Given the description of an element on the screen output the (x, y) to click on. 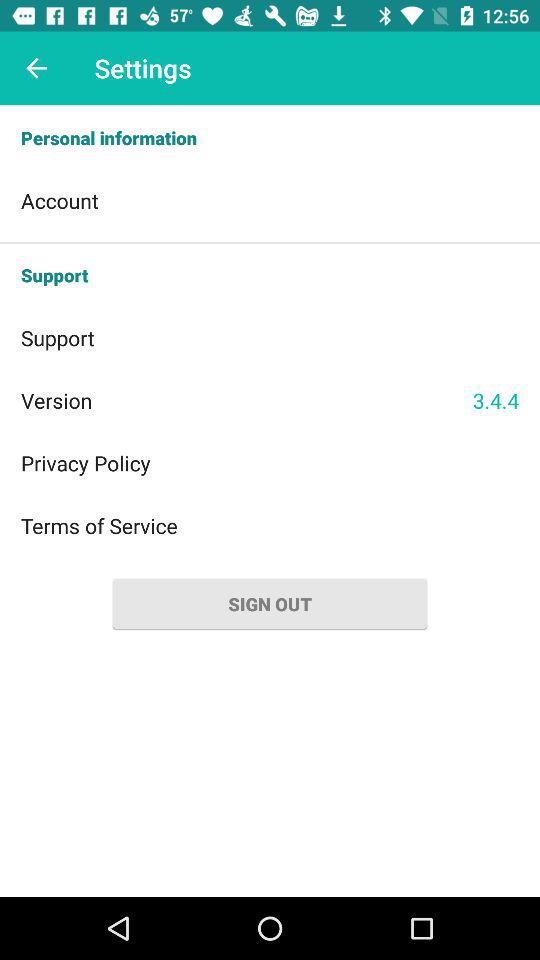
turn off the icon next to the 3.4.4 icon (246, 400)
